Given the description of an element on the screen output the (x, y) to click on. 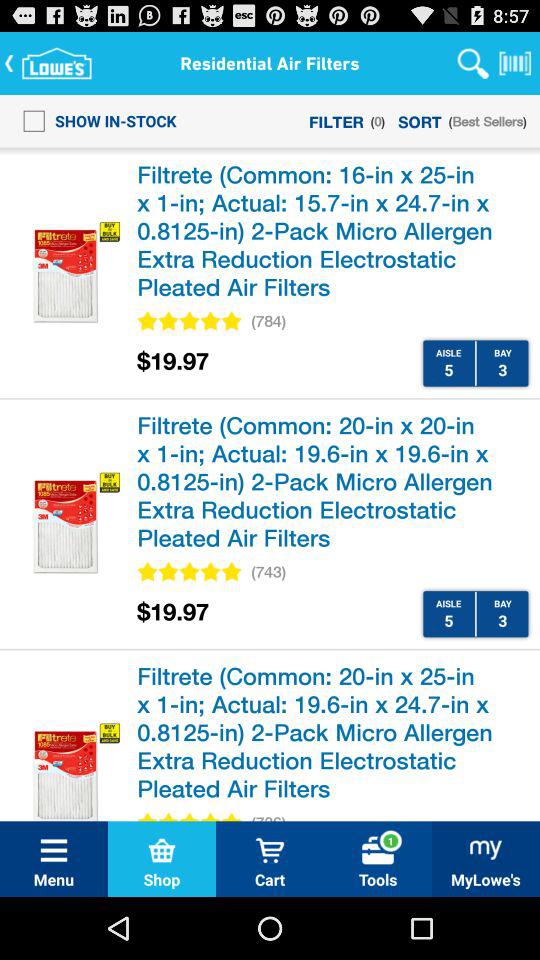
press the show in-stock (94, 120)
